Given the description of an element on the screen output the (x, y) to click on. 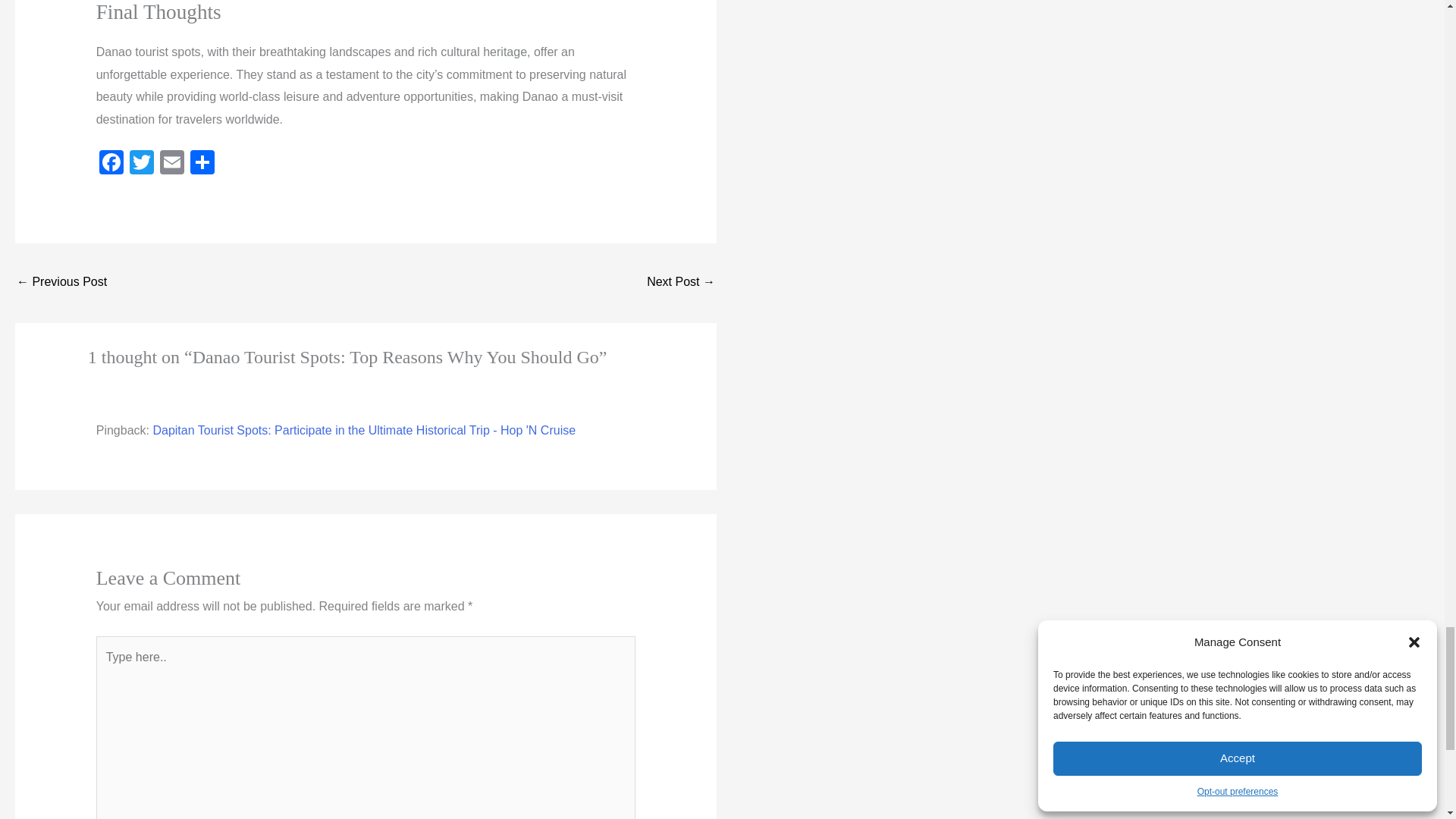
Twitter (141, 163)
Dagupan Tourist Spots: The Best Places to Visit (61, 283)
Email (172, 163)
Facebook (111, 163)
